Given the description of an element on the screen output the (x, y) to click on. 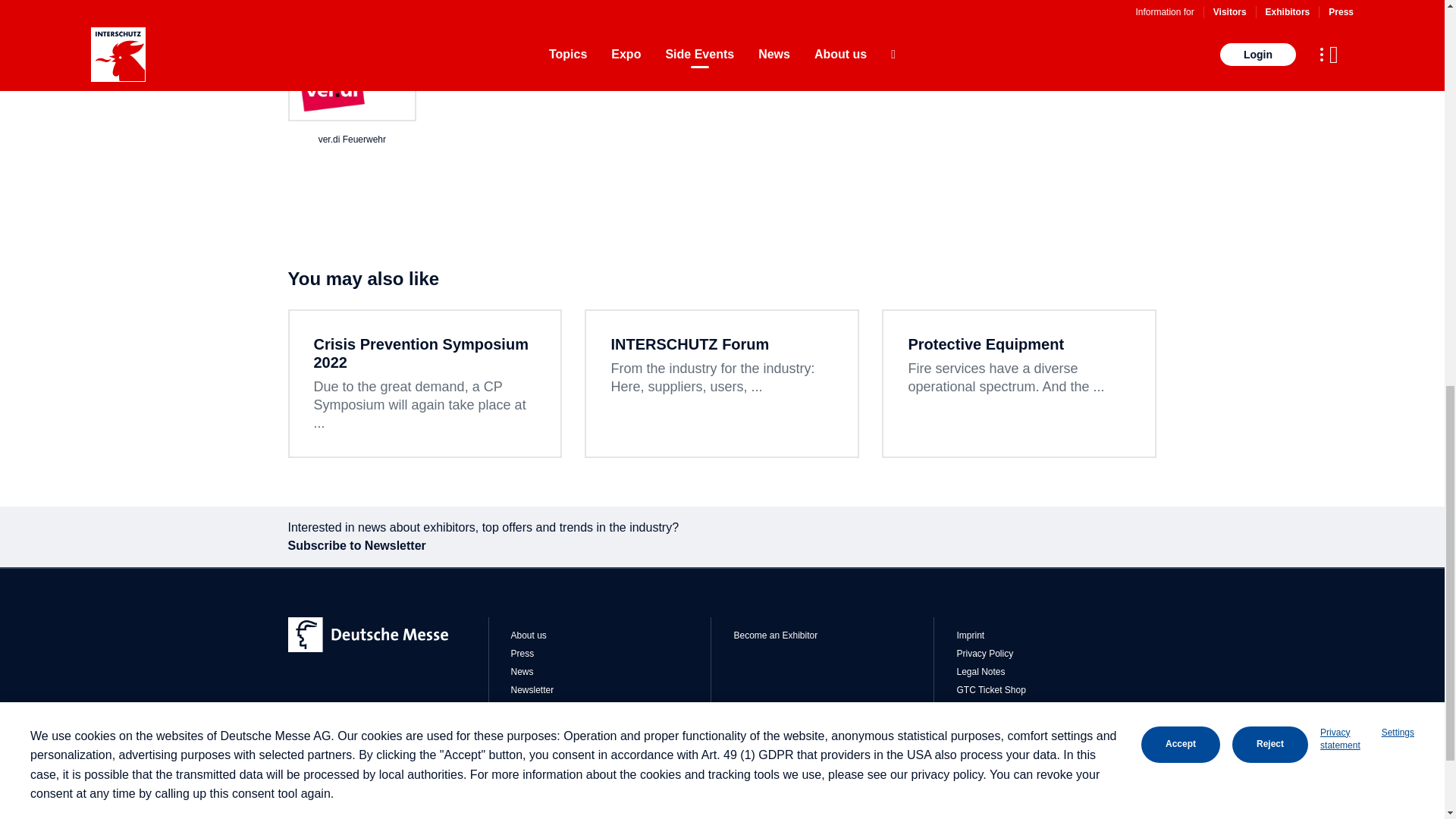
Legal Notes (1056, 671)
Become an Exhibitor (833, 635)
Subscribe to Newsletter (722, 546)
About us (611, 635)
GTC Ticket Shop (1056, 689)
Cookie Settings (1056, 707)
